Given the description of an element on the screen output the (x, y) to click on. 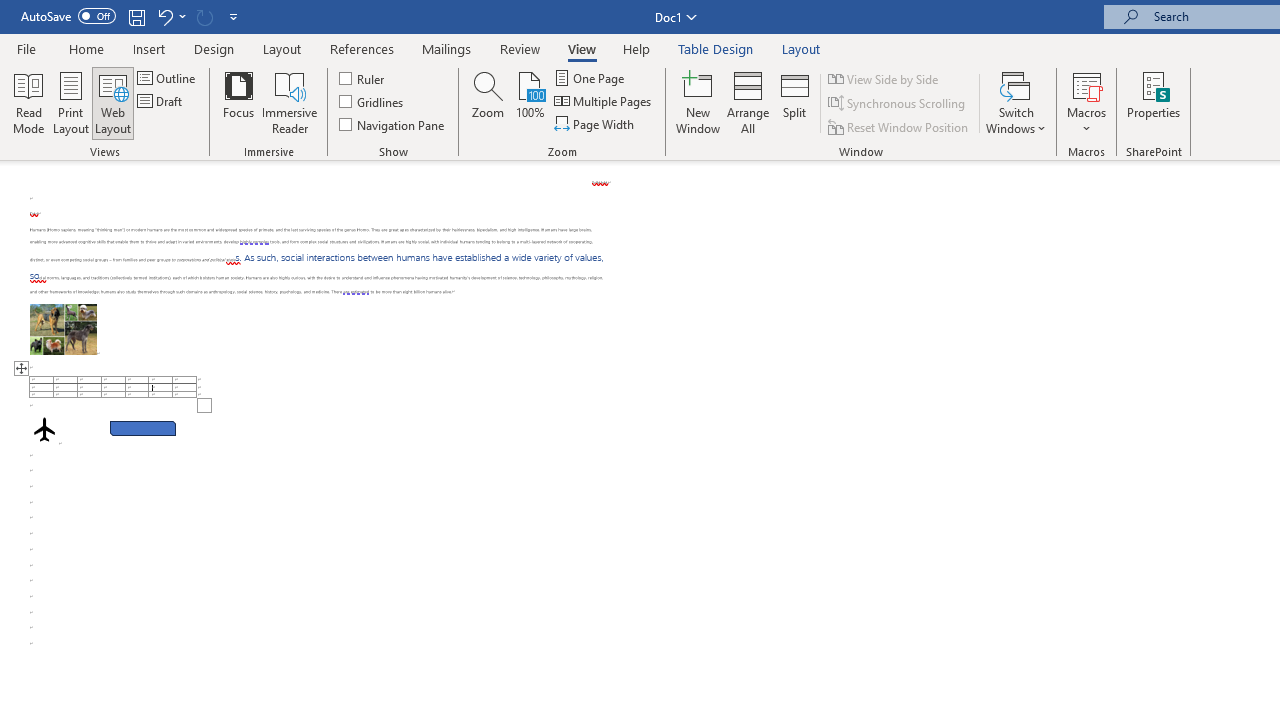
Airplane with solid fill (43, 429)
Web Layout (113, 102)
Undo Row Height Spinner (170, 15)
View (582, 48)
Focus (238, 102)
Can't Repeat (204, 15)
Reset Window Position (900, 126)
Help (637, 48)
File Tab (26, 48)
Review (520, 48)
Undo Row Height Spinner (164, 15)
Save (136, 15)
Switch Windows (1016, 102)
System (10, 11)
Design (214, 48)
